Given the description of an element on the screen output the (x, y) to click on. 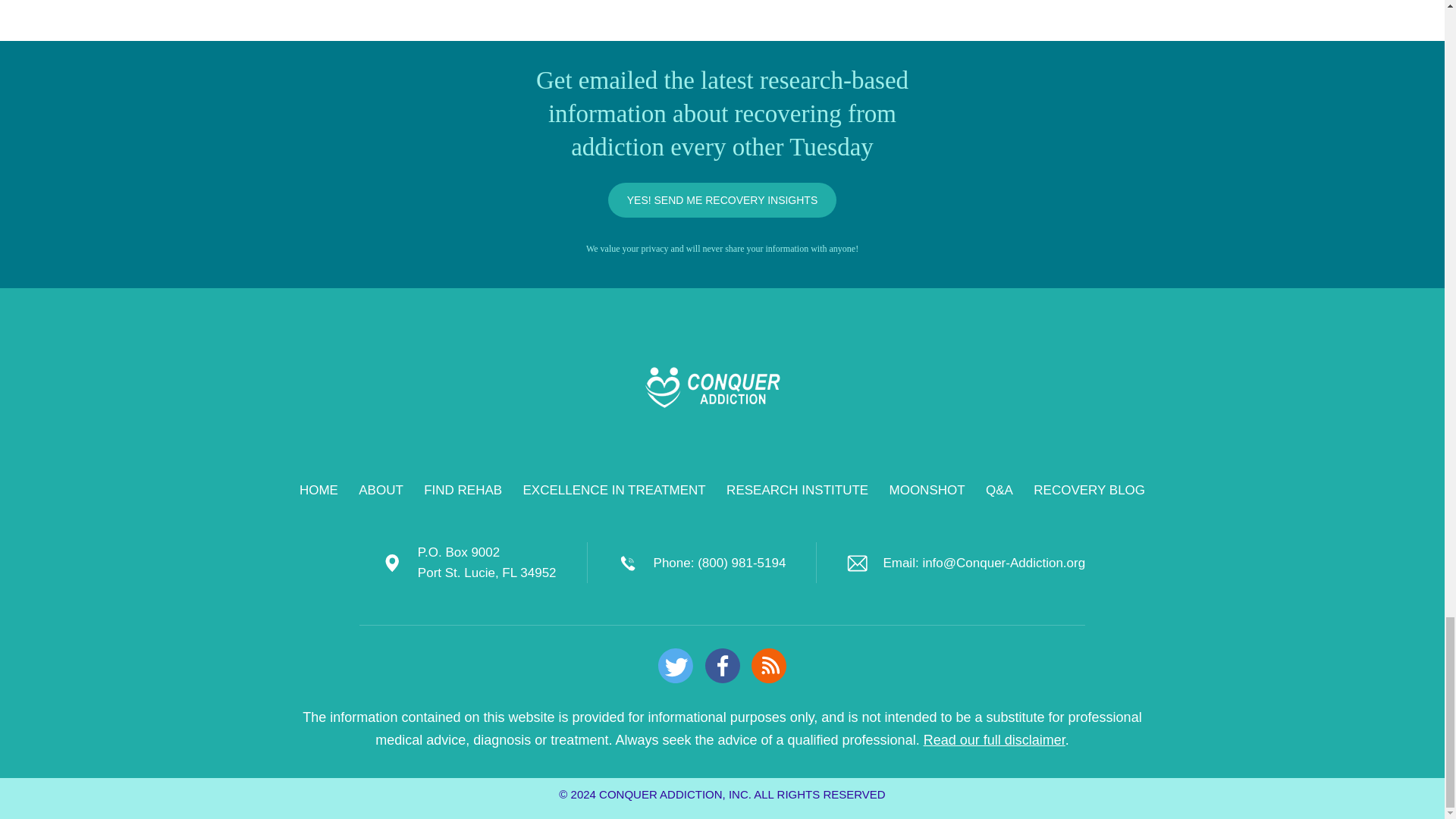
Blog (768, 665)
YES! SEND ME RECOVERY INSIGHTS (722, 199)
Read our full disclaimer (994, 739)
Facebook (721, 665)
LinkedIn (721, 665)
RESEARCH INSTITUTE (796, 490)
RECOVERY BLOG (1088, 490)
MOONSHOT (927, 490)
ABOUT (380, 490)
Twitter (675, 665)
